Given the description of an element on the screen output the (x, y) to click on. 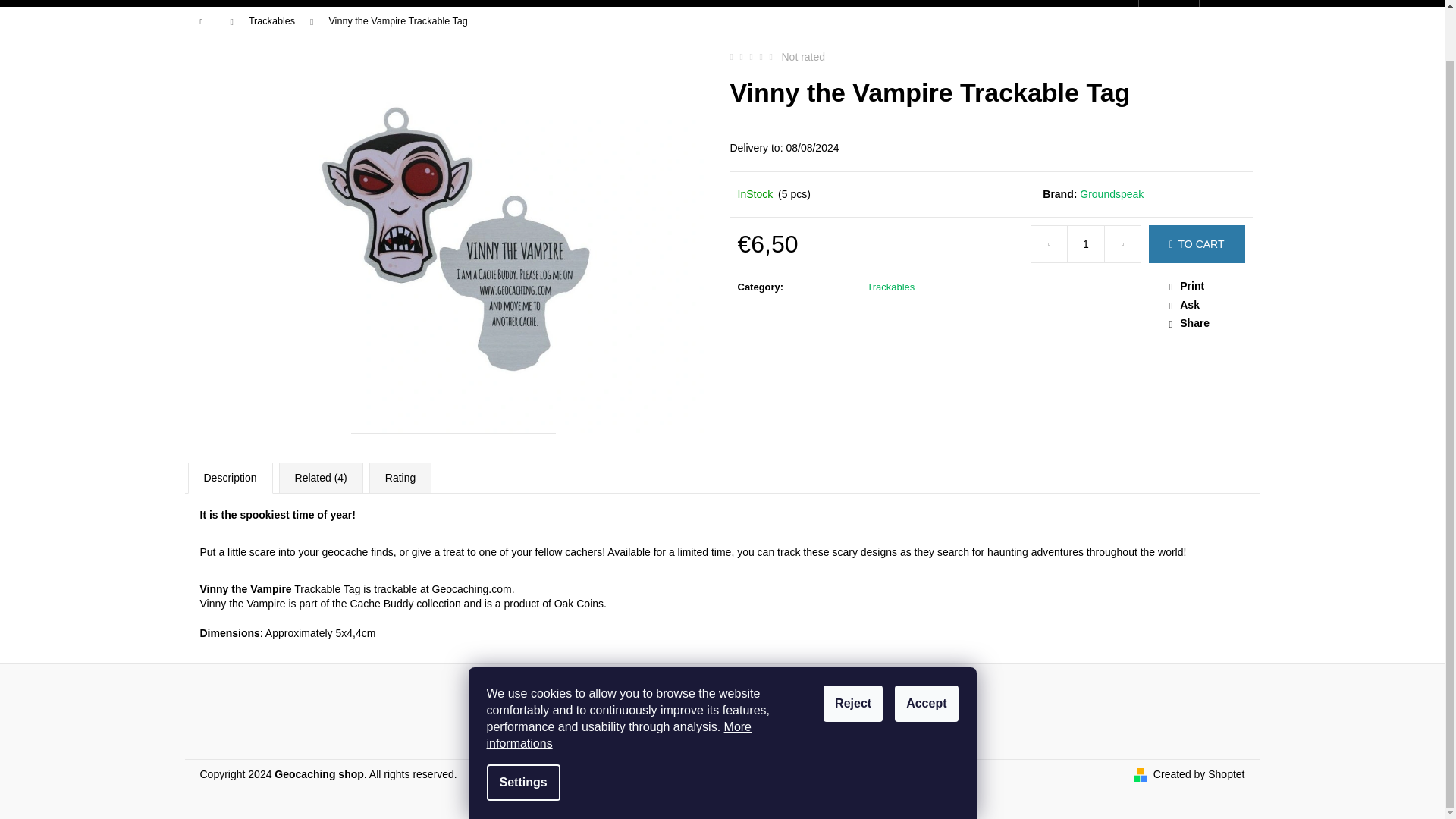
Christmas Collection (411, 3)
Print product (1206, 286)
1 (1085, 244)
Share product (1206, 323)
Speak to a sales advisor (1206, 305)
Geocaching for kids (777, 3)
Getting started with Geocaching (595, 3)
